Given the description of an element on the screen output the (x, y) to click on. 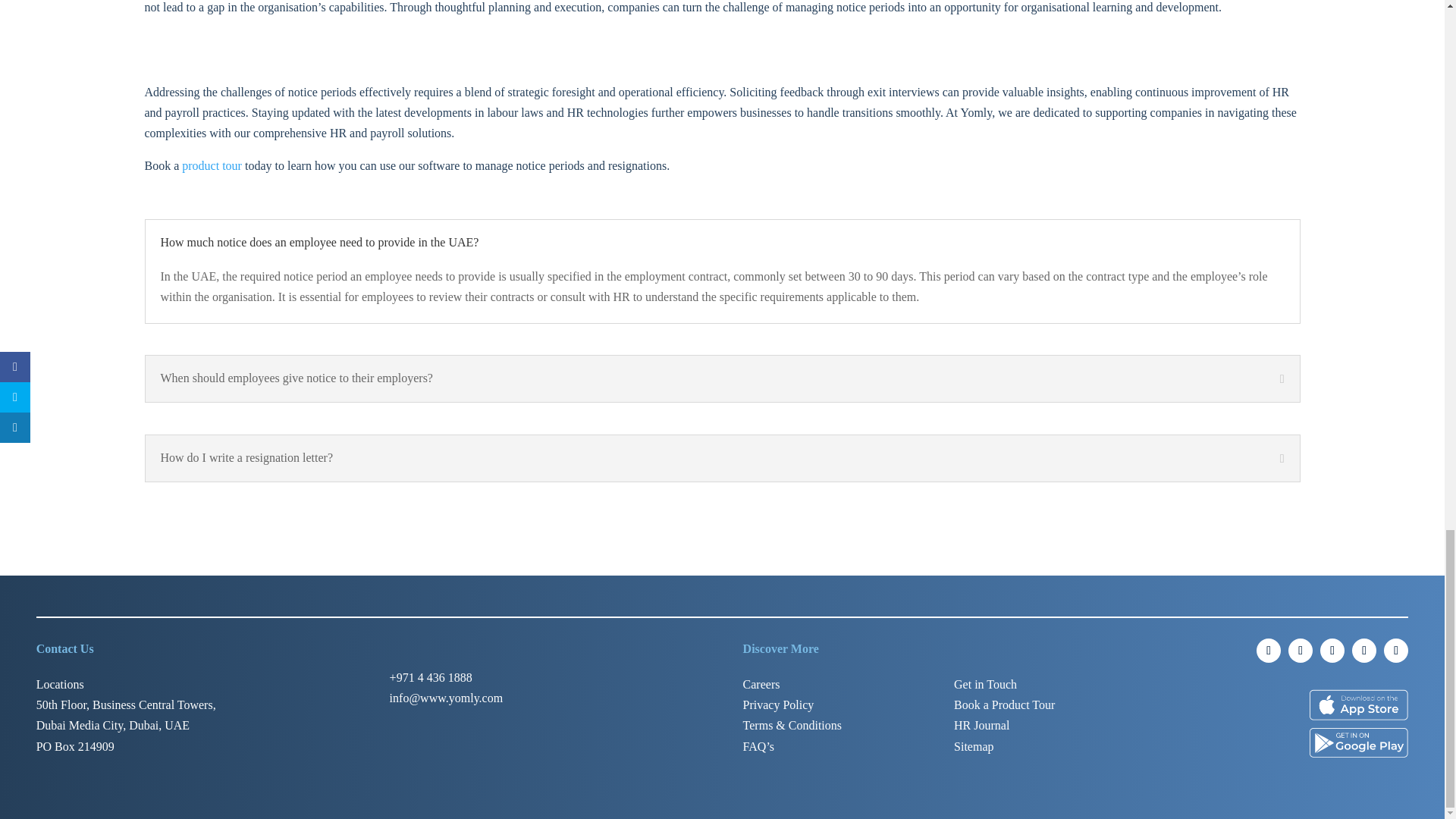
Follow on X (1363, 650)
Follow on Youtube (1395, 650)
Follow on Instagram (1268, 650)
Careers (761, 684)
Follow on Facebook (1331, 650)
Follow on LinkedIn (1300, 650)
Get in Touch (984, 684)
Book a Product Tour (1003, 704)
Sitemap (972, 746)
HR Journal (981, 725)
